Given the description of an element on the screen output the (x, y) to click on. 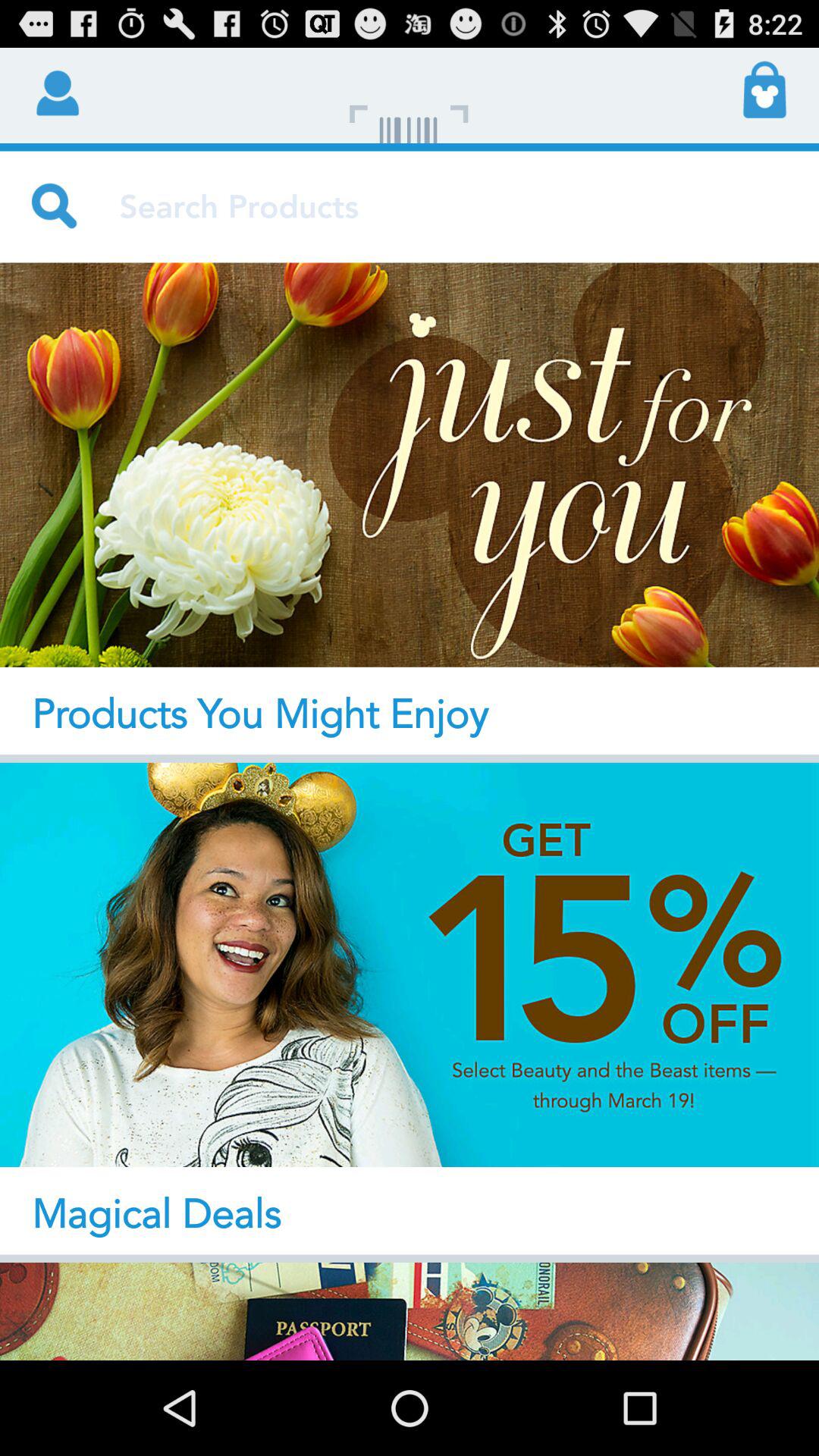
press item at the top left corner (55, 91)
